Given the description of an element on the screen output the (x, y) to click on. 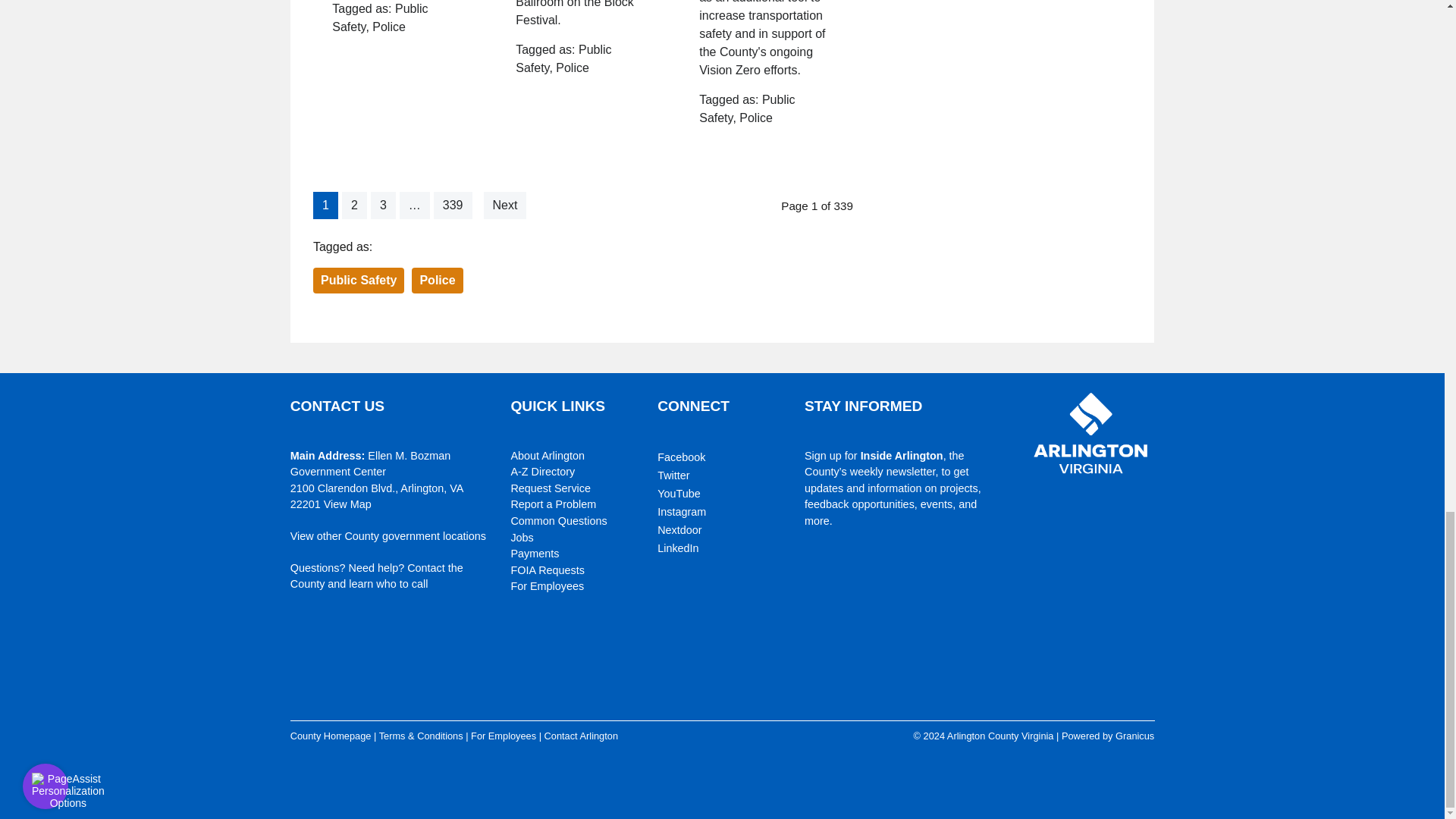
Arlington County Logo (1091, 433)
